Given the description of an element on the screen output the (x, y) to click on. 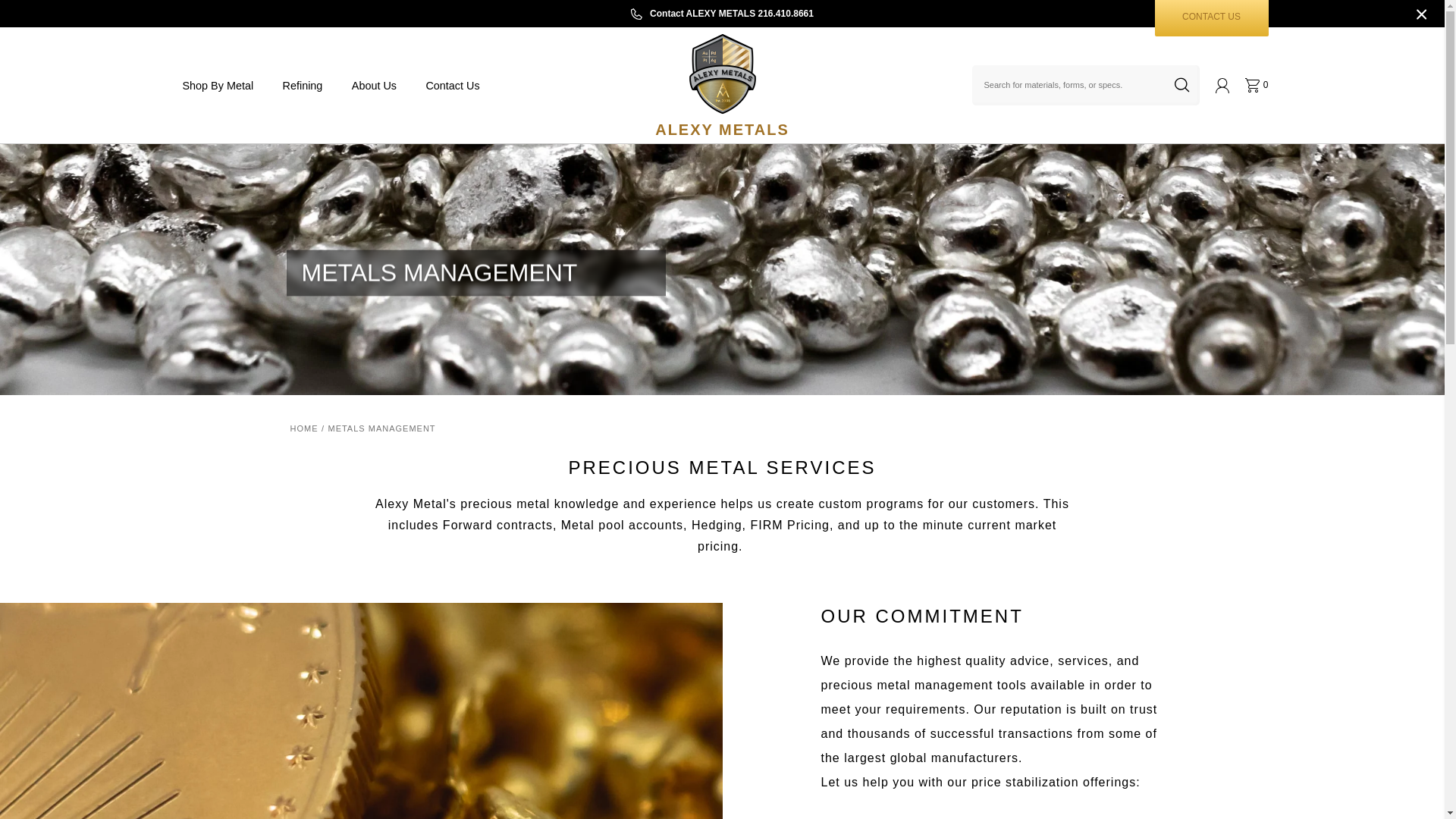
Shop By Metal (217, 85)
Search (1181, 84)
ALEXY METALS (721, 85)
HOME (1256, 84)
Contact Us (303, 428)
About Us (451, 85)
Contact ALEXY METALS 216.410.8661 (374, 85)
Refining (721, 13)
CONTACT US (302, 85)
Home (1211, 18)
